Given the description of an element on the screen output the (x, y) to click on. 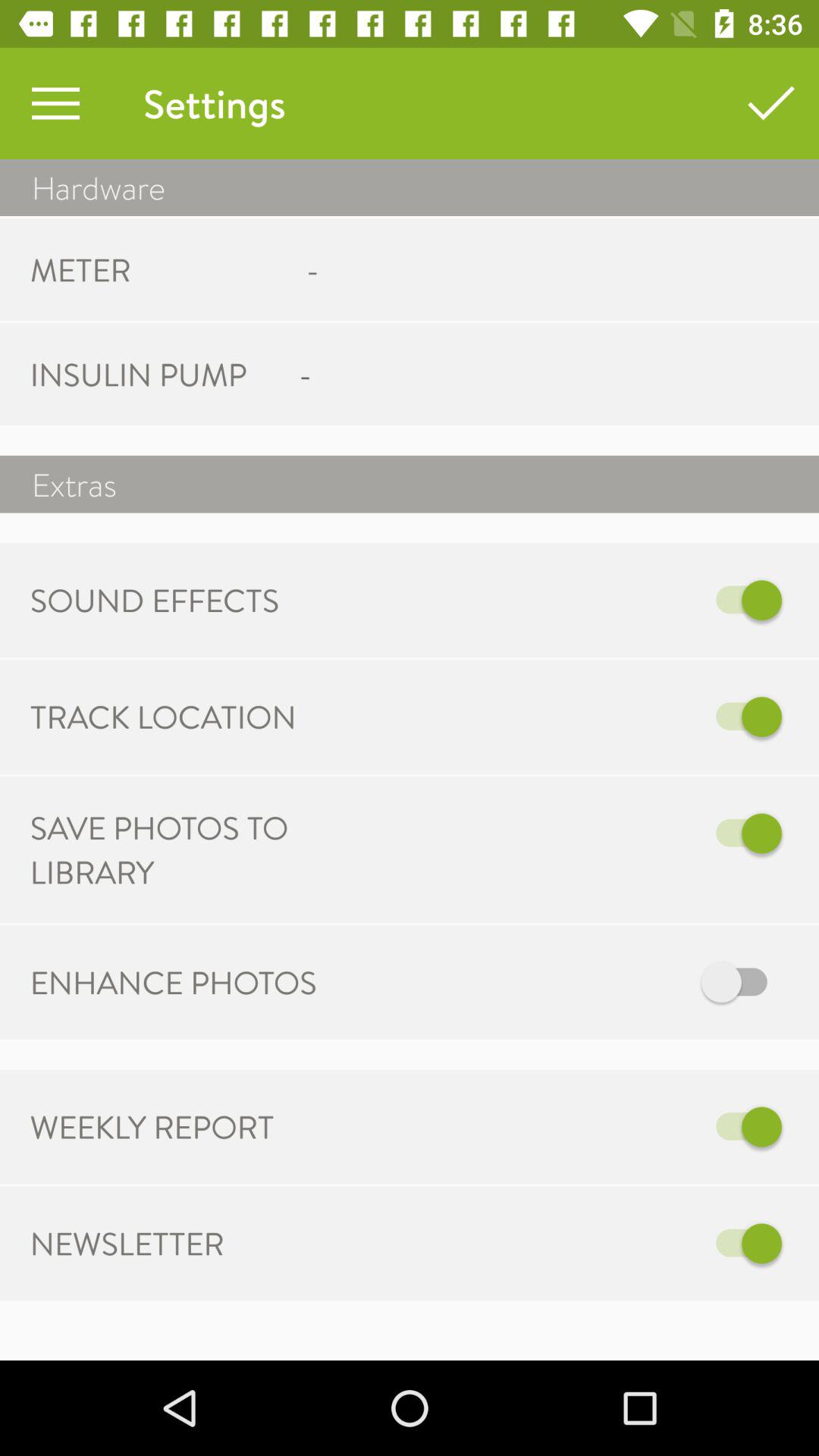
toggle newsletter on/off (566, 1243)
